Given the description of an element on the screen output the (x, y) to click on. 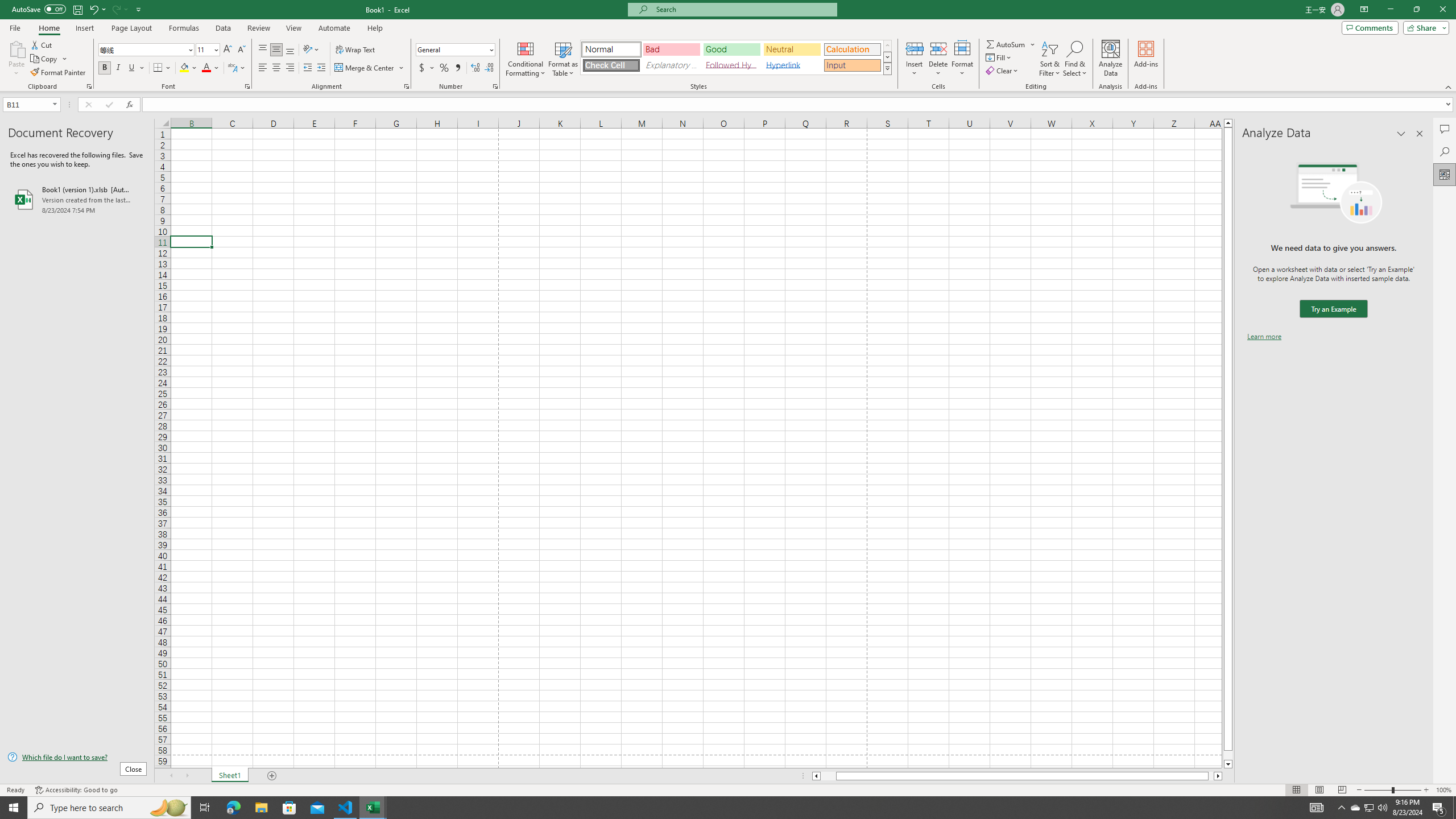
Fill Color RGB(255, 255, 0) (183, 67)
Conditional Formatting (525, 58)
Format Painter (58, 72)
Borders (162, 67)
Show Phonetic Field (231, 67)
Increase Decimal (474, 67)
Insert Cells (914, 48)
